Given the description of an element on the screen output the (x, y) to click on. 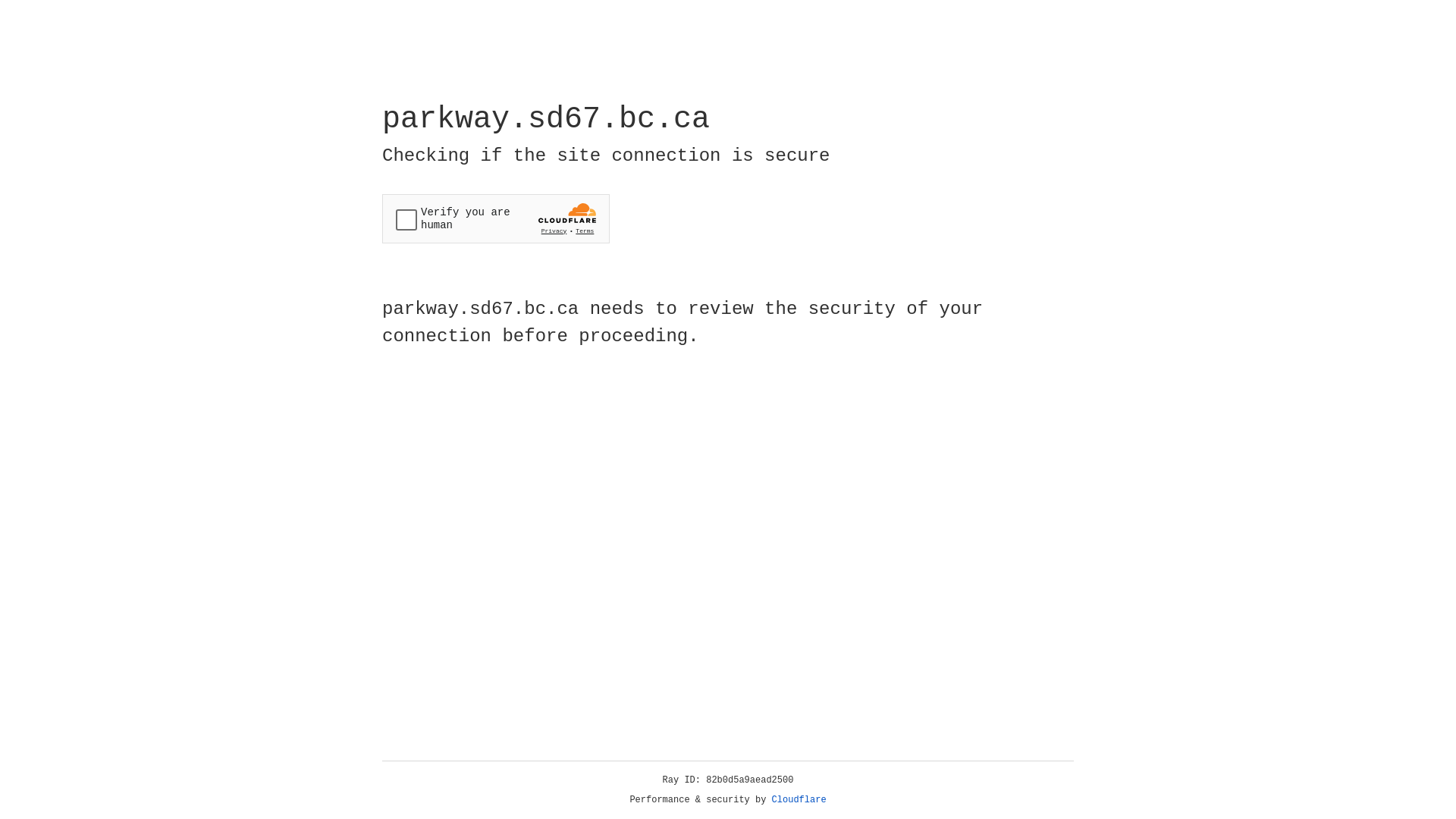
Widget containing a Cloudflare security challenge Element type: hover (495, 218)
Cloudflare Element type: text (798, 799)
